Given the description of an element on the screen output the (x, y) to click on. 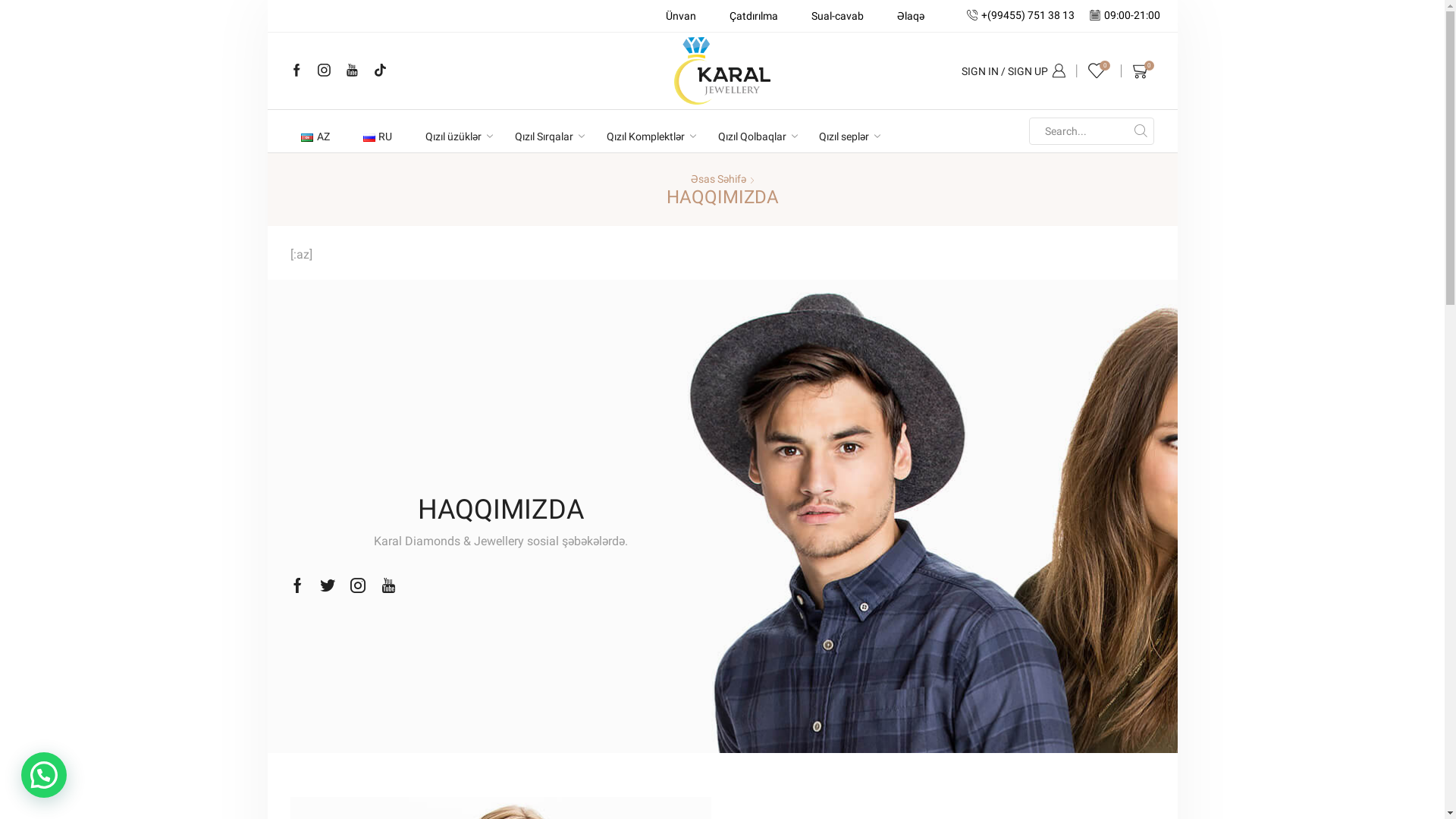
Instagram Element type: hover (323, 70)
Facebook Element type: hover (295, 70)
AZ Element type: text (314, 137)
Twitter Element type: text (327, 585)
Youtube Element type: text (388, 585)
Instagram Element type: text (357, 585)
0 Element type: text (1143, 70)
Facebook Element type: text (296, 585)
0 Element type: text (1099, 70)
SIGN IN / SIGN UP Element type: text (1013, 70)
RU Element type: text (377, 137)
Sual-cavab Element type: text (837, 15)
Youtube Element type: hover (351, 70)
